Given the description of an element on the screen output the (x, y) to click on. 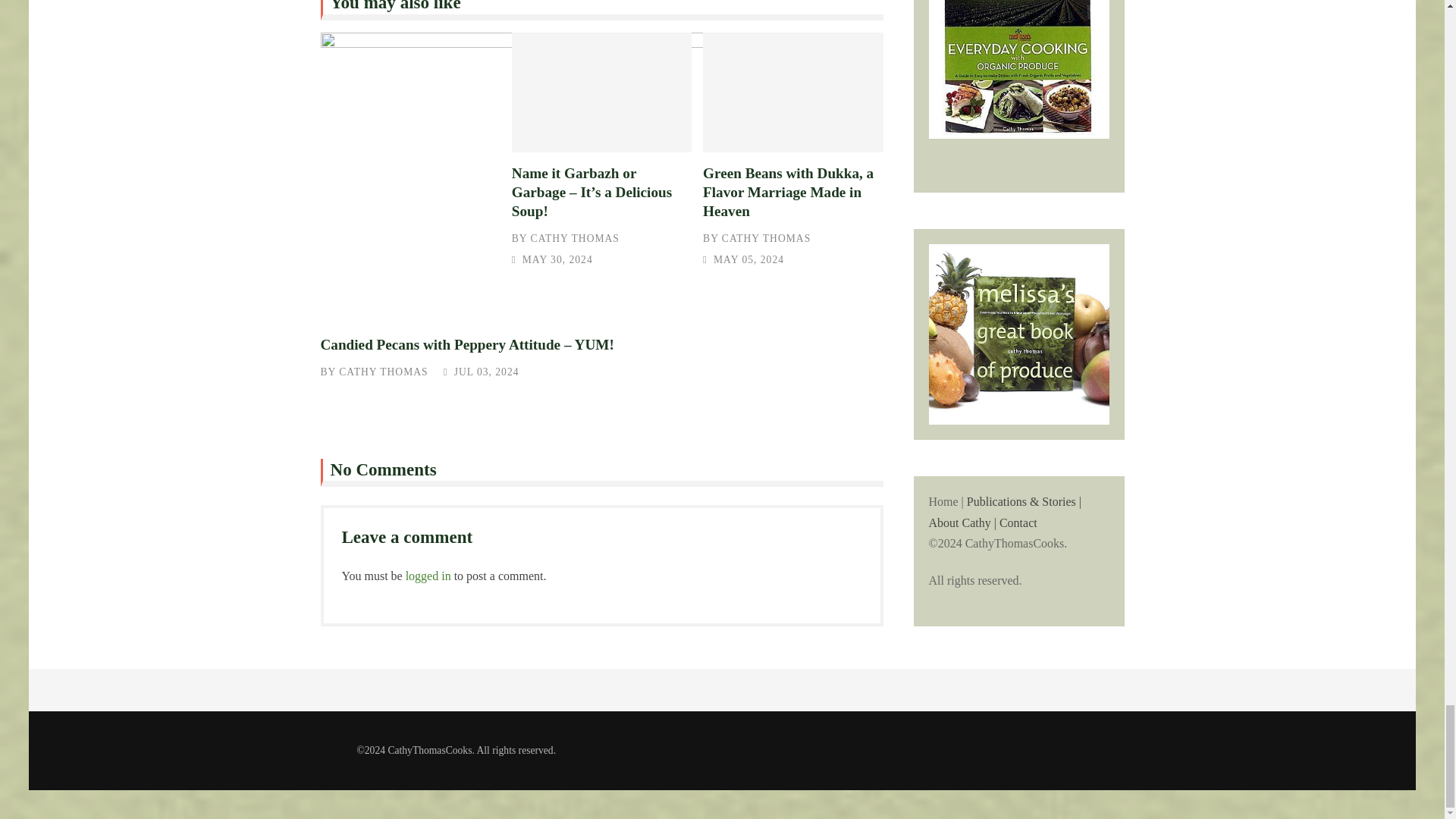
Green Beans with Dukka, a Flavor Marriage Made in Heaven (788, 192)
CATHY THOMAS (383, 371)
Green Beans with Dukka, a Flavor Marriage Made in Heaven (792, 92)
Posts by Cathy Thomas (575, 238)
Posts by Cathy Thomas (766, 238)
logged in (428, 575)
CATHY THOMAS (575, 238)
Posts by Cathy Thomas (383, 371)
CATHY THOMAS (766, 238)
